Given the description of an element on the screen output the (x, y) to click on. 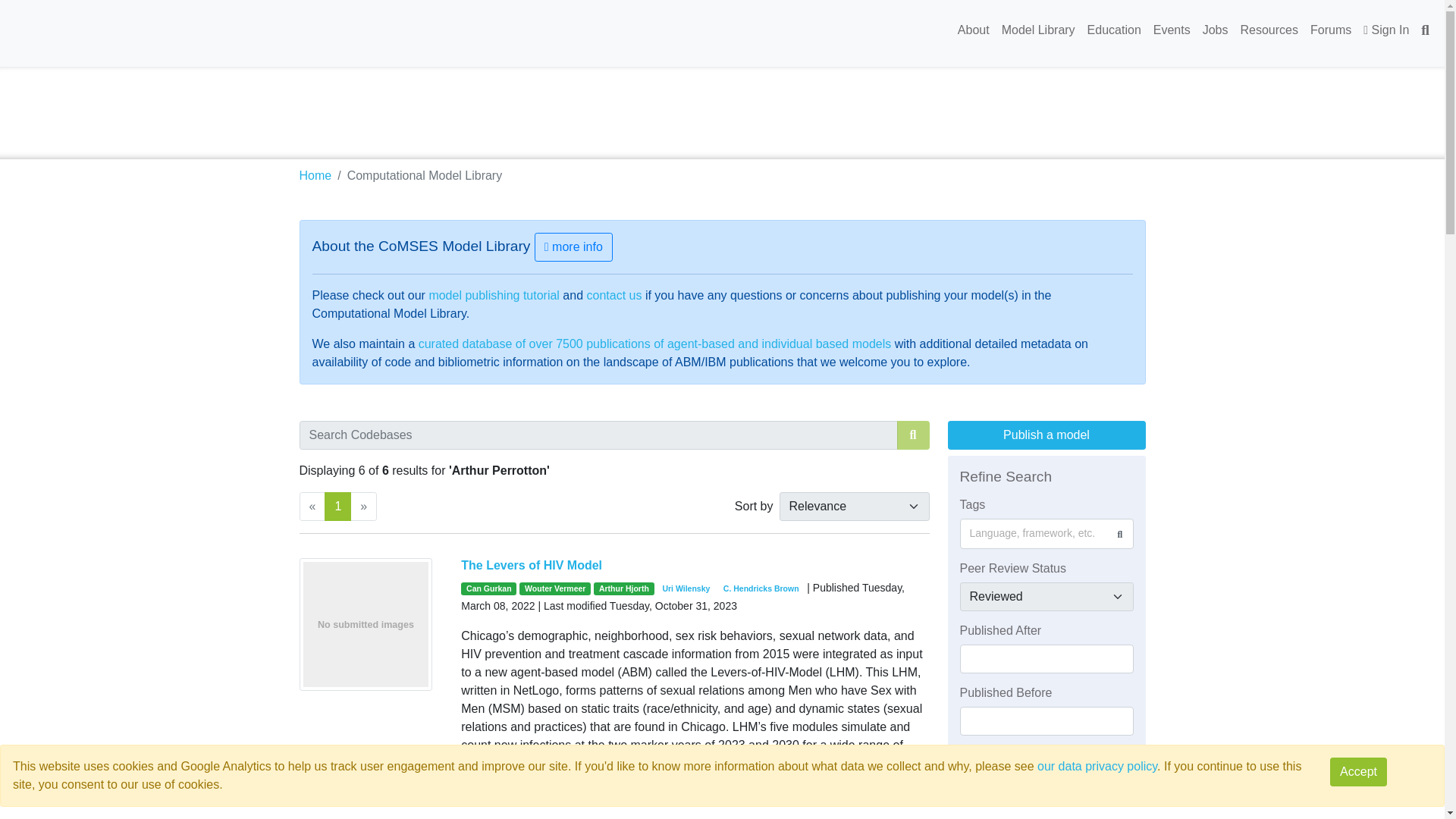
model publishing tutorial (493, 295)
Events (1171, 30)
1 (337, 506)
About (973, 30)
Wouter Vermeer (555, 589)
Uri Wilensky (687, 589)
Home (314, 174)
more info (573, 246)
Model Library (1038, 30)
Education (1114, 30)
